Given the description of an element on the screen output the (x, y) to click on. 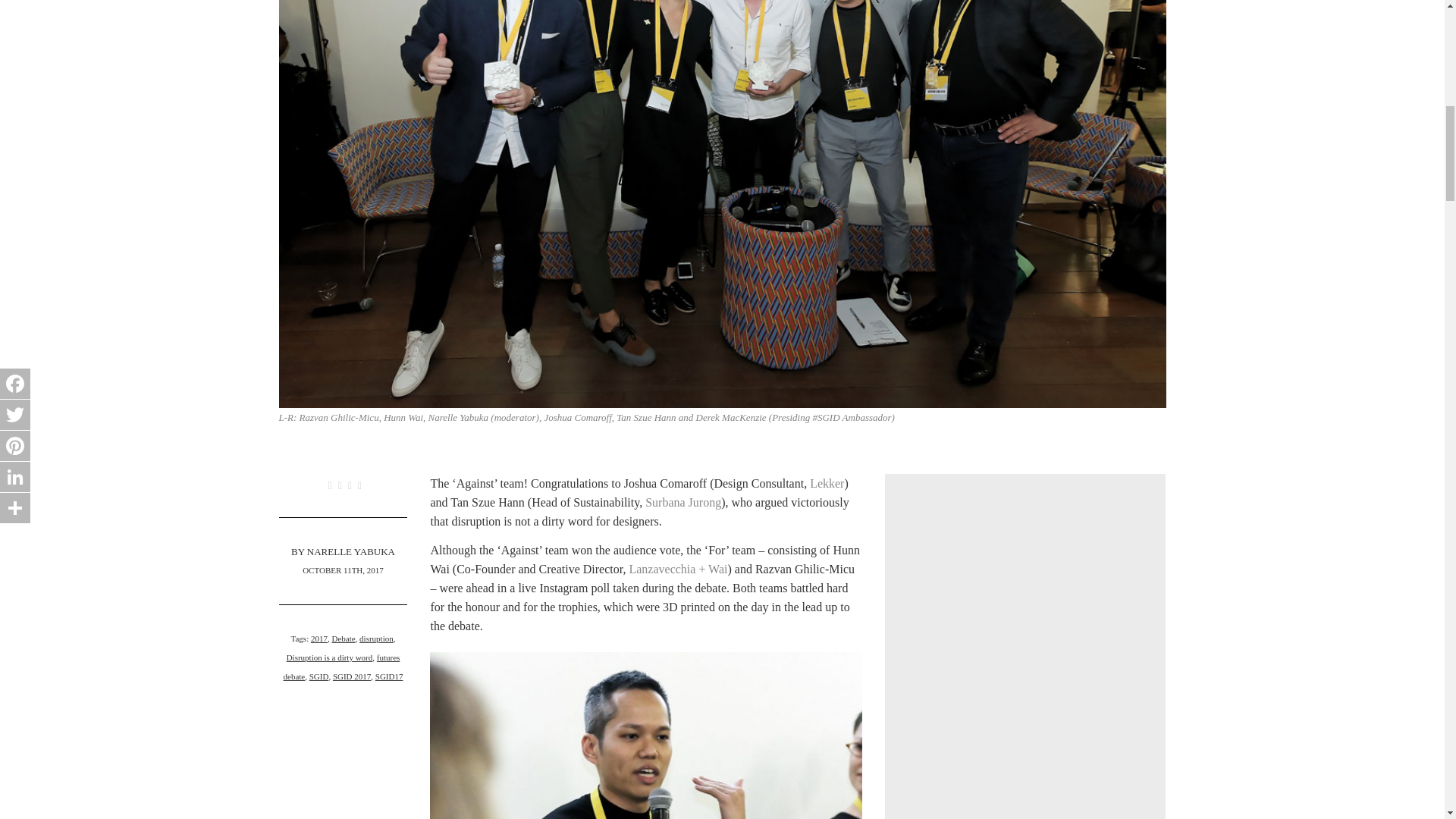
Posts by Narelle Yabuka (350, 551)
